Given the description of an element on the screen output the (x, y) to click on. 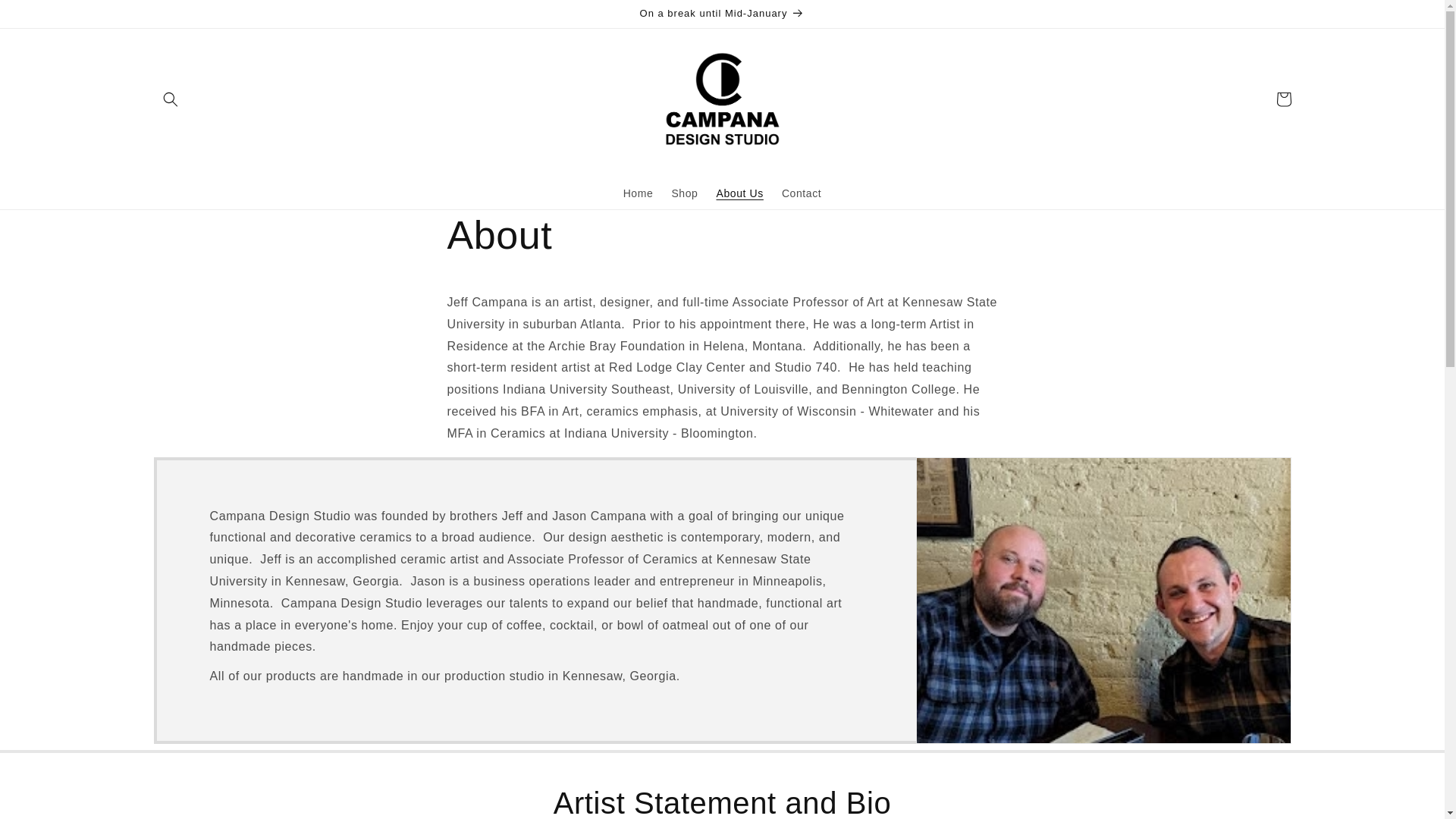
Cart (1283, 99)
Shop (684, 193)
About Us (738, 193)
Skip to content (45, 17)
Contact (801, 193)
Home (638, 193)
